Given the description of an element on the screen output the (x, y) to click on. 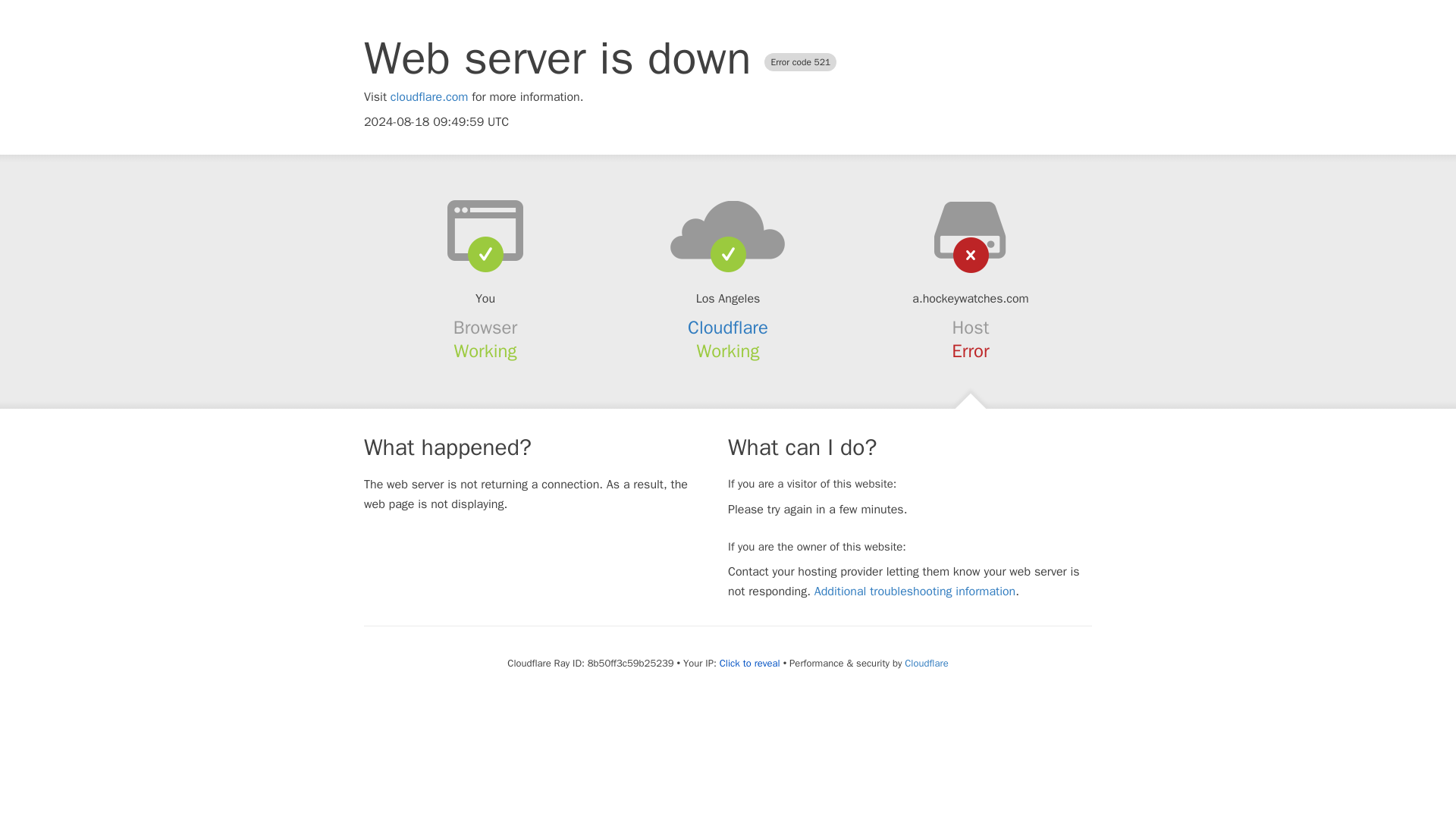
cloudflare.com (429, 96)
Additional troubleshooting information (913, 590)
Click to reveal (749, 663)
Cloudflare (727, 327)
Cloudflare (925, 662)
